Given the description of an element on the screen output the (x, y) to click on. 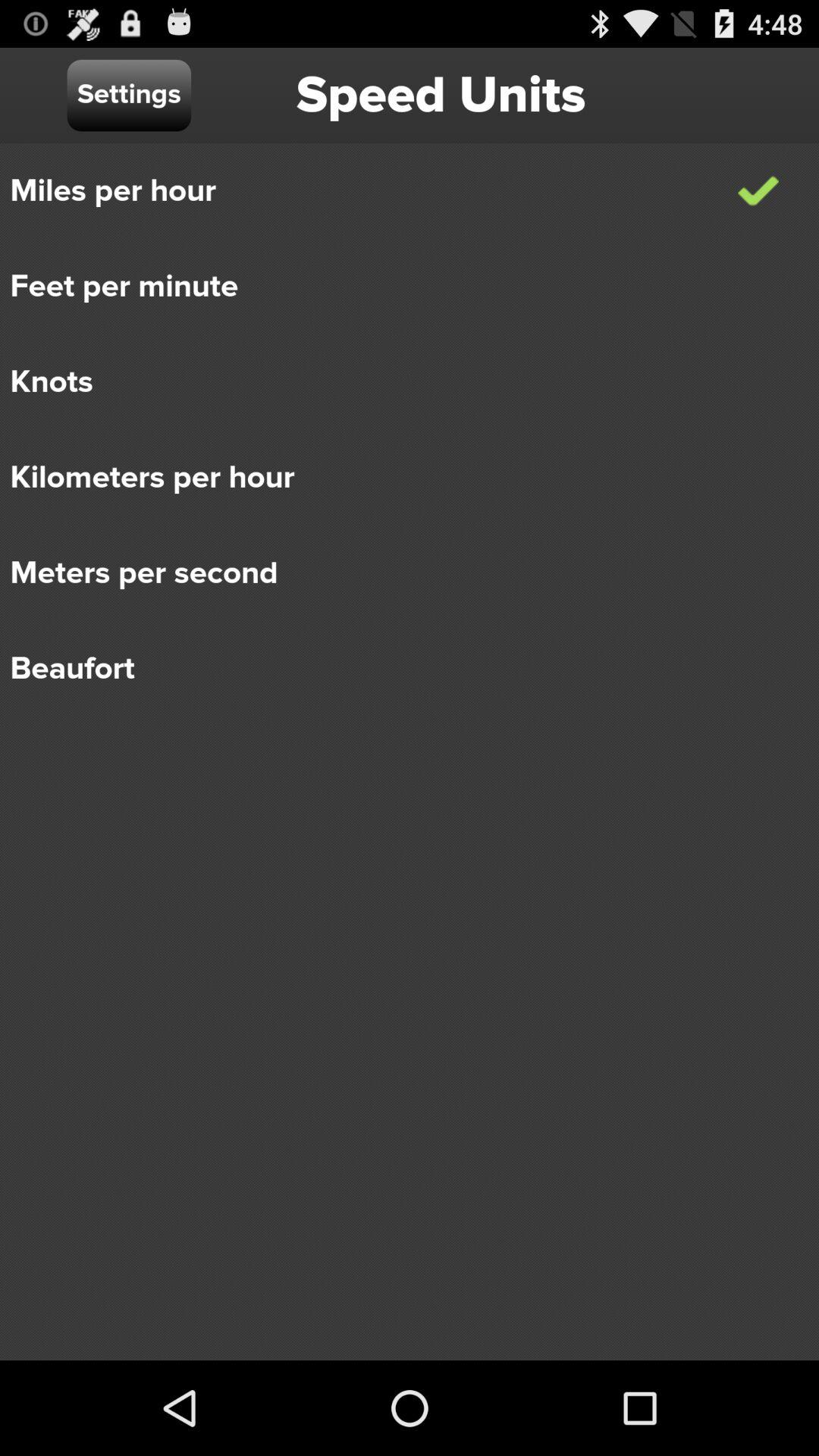
scroll to the knots item (399, 381)
